Given the description of an element on the screen output the (x, y) to click on. 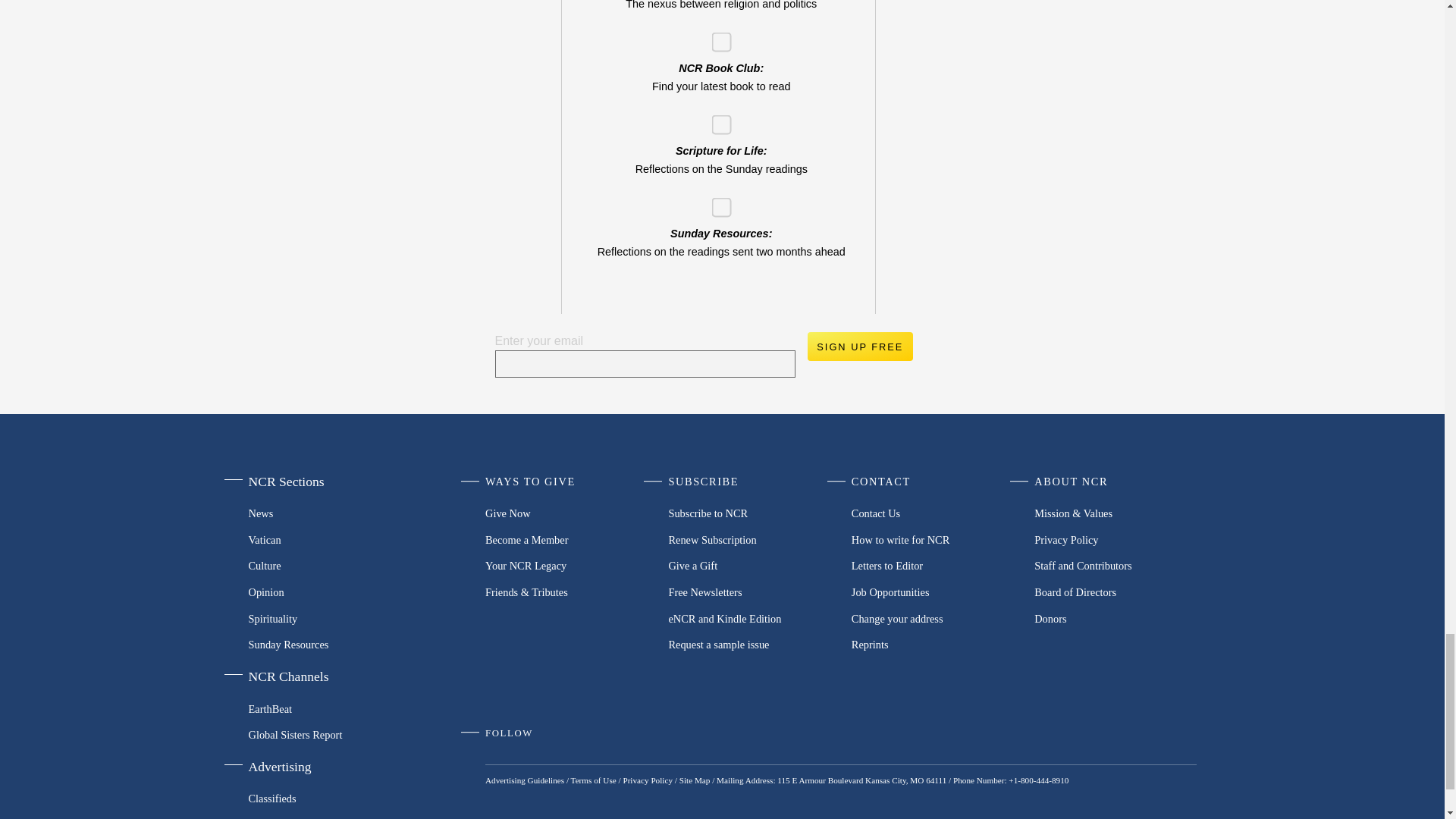
dfa4c56aff (715, 202)
Request a sample issue of NCR (748, 644)
Request a reprint of NCR content (932, 644)
How to write for NCR (932, 539)
13ede0f40e (715, 36)
Donors (1114, 618)
Sign up free (859, 346)
Change your address (932, 618)
c25324053e (715, 119)
